Given the description of an element on the screen output the (x, y) to click on. 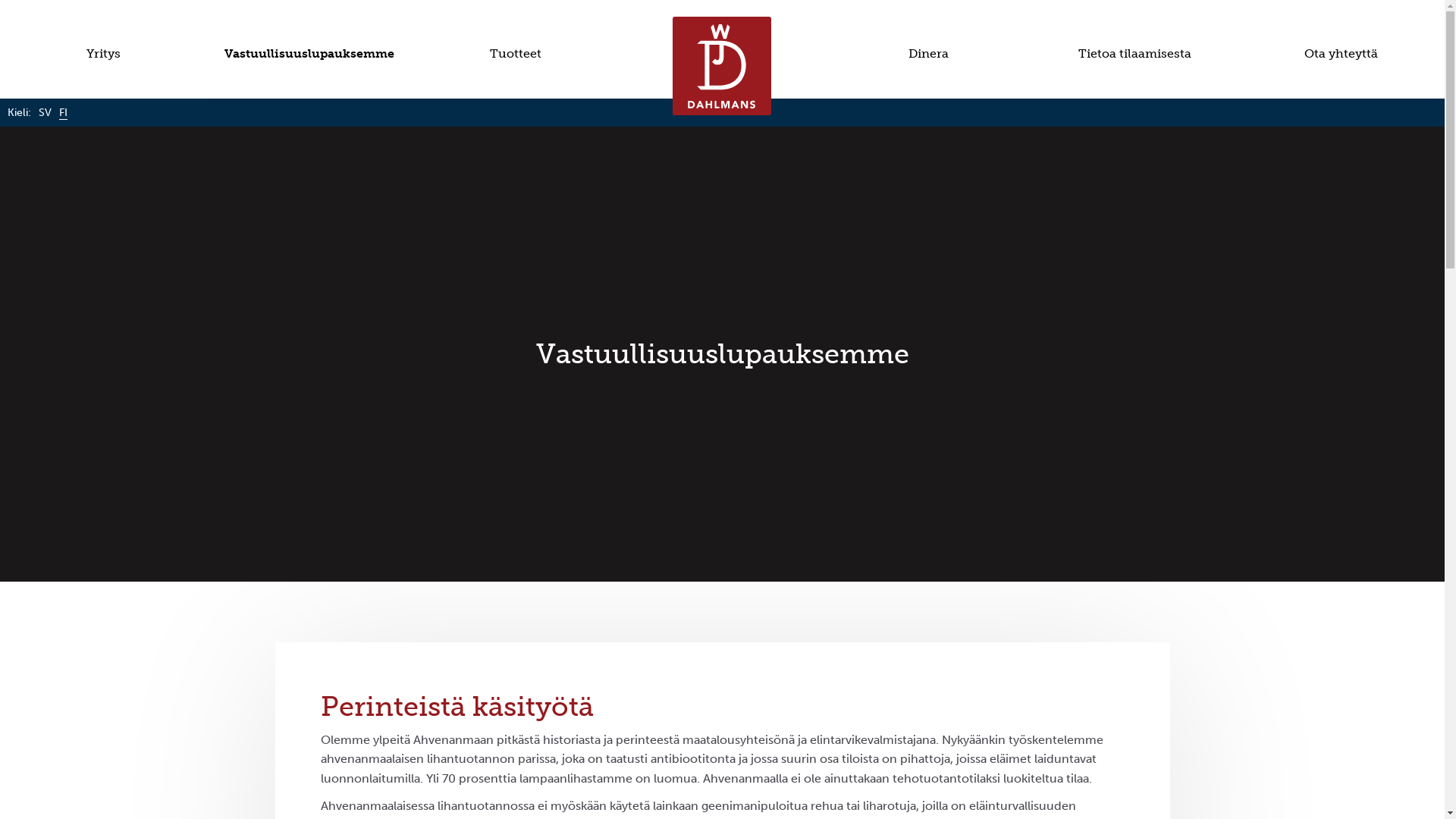
Yritys Element type: text (103, 53)
Tietoa tilaamisesta Element type: text (1135, 53)
Tuotteet Element type: text (515, 53)
Vastuullisuuslupauksemme Element type: text (309, 53)
SV Element type: text (44, 112)
FI Element type: text (63, 112)
Dinera Element type: text (928, 53)
Etusivu Element type: text (721, 65)
